Given the description of an element on the screen output the (x, y) to click on. 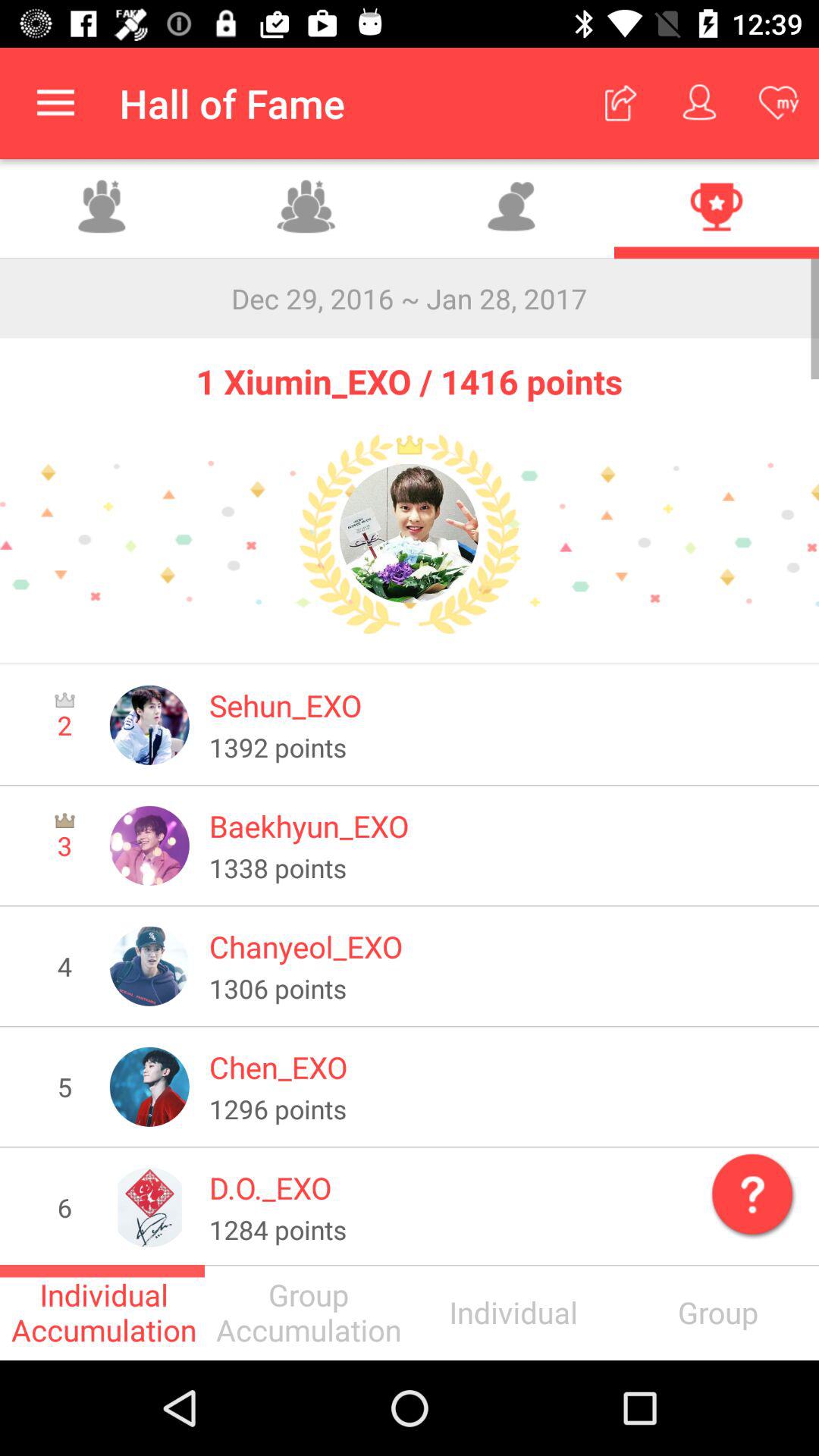
click 5 item (64, 1086)
